Given the description of an element on the screen output the (x, y) to click on. 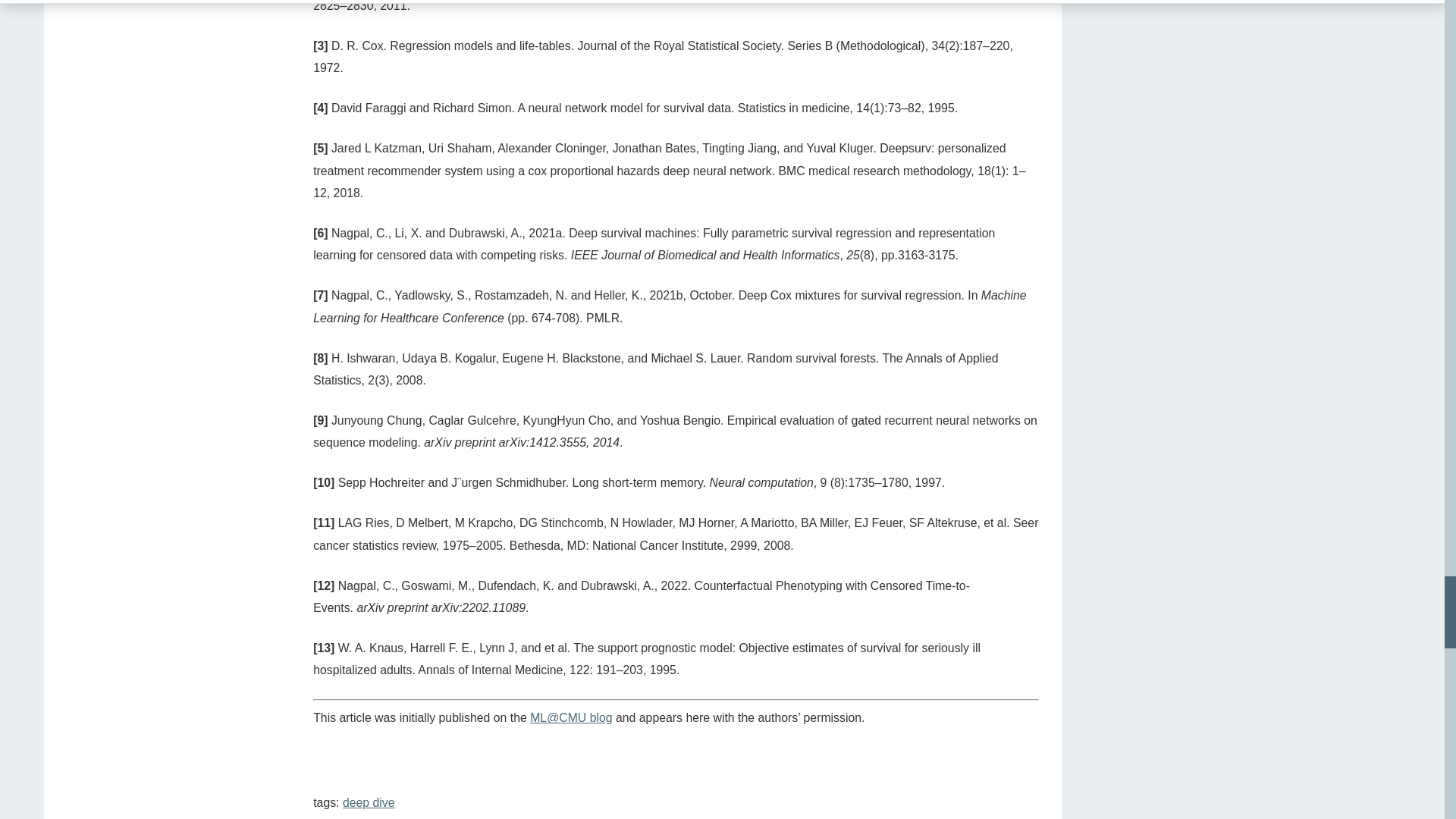
deep dive (368, 802)
